Given the description of an element on the screen output the (x, y) to click on. 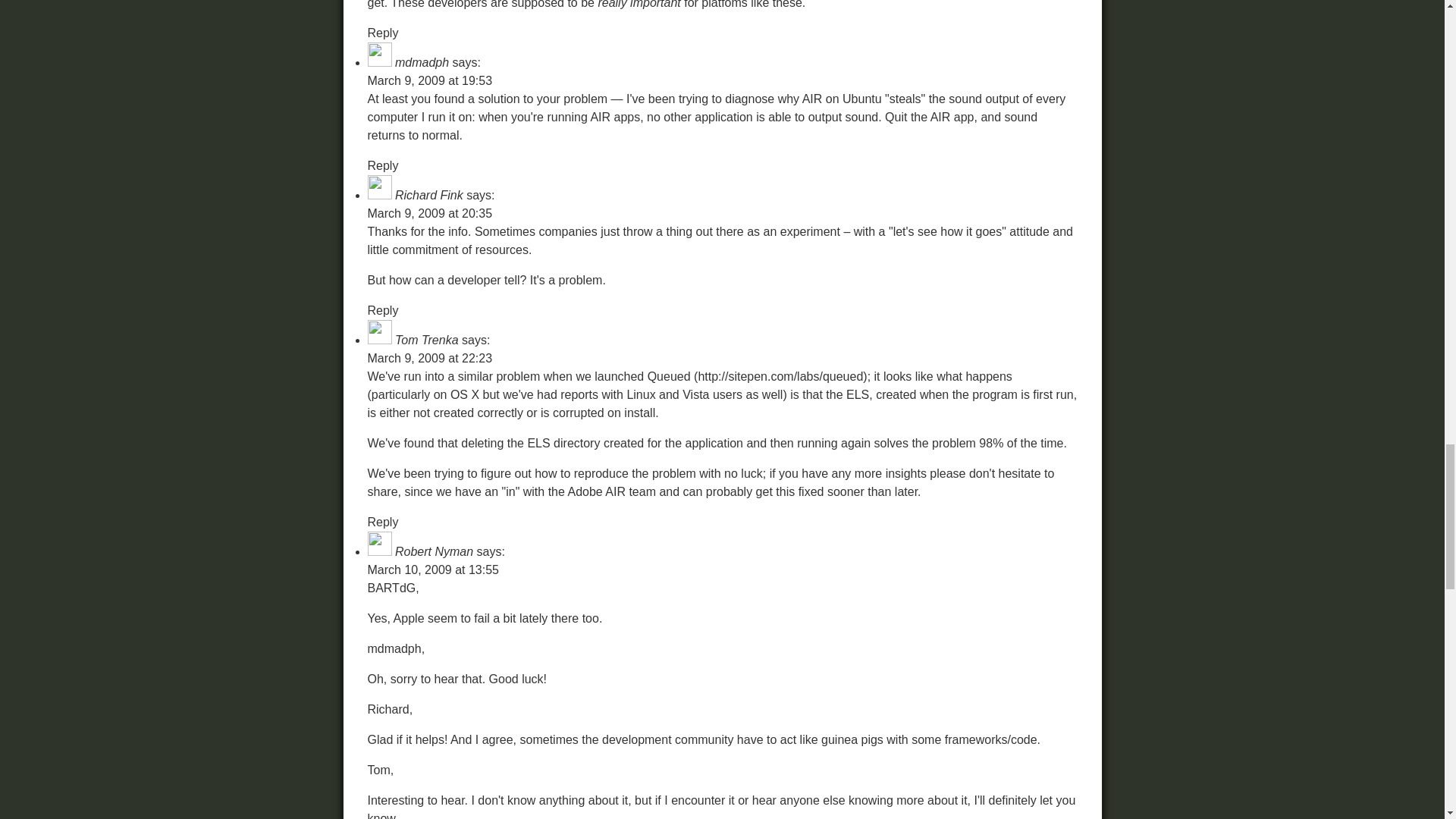
Reply (381, 164)
March 9, 2009 at 22:23 (429, 358)
March 9, 2009 at 20:35 (429, 213)
March 10, 2009 at 13:55 (431, 569)
Richard Fink (428, 195)
Reply (381, 309)
mdmadph (421, 62)
Tom Trenka (426, 339)
Reply (381, 32)
Robert Nyman (433, 551)
